Given the description of an element on the screen output the (x, y) to click on. 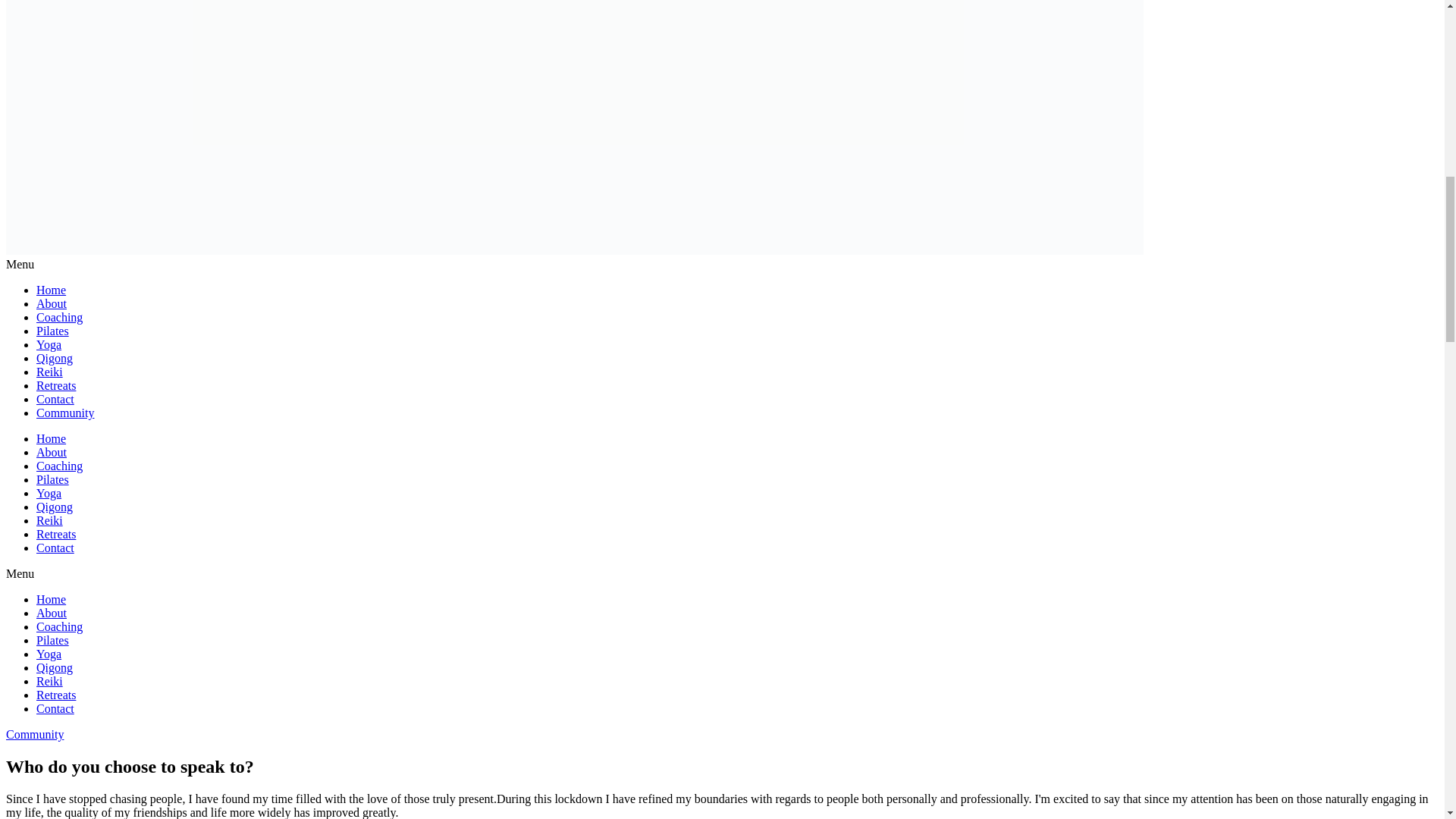
Reiki (49, 371)
Yoga (48, 653)
Community (65, 412)
Home (50, 289)
Pilates (52, 330)
Qigong (54, 667)
Reiki (49, 520)
About (51, 612)
Yoga (48, 492)
Home (50, 438)
